Given the description of an element on the screen output the (x, y) to click on. 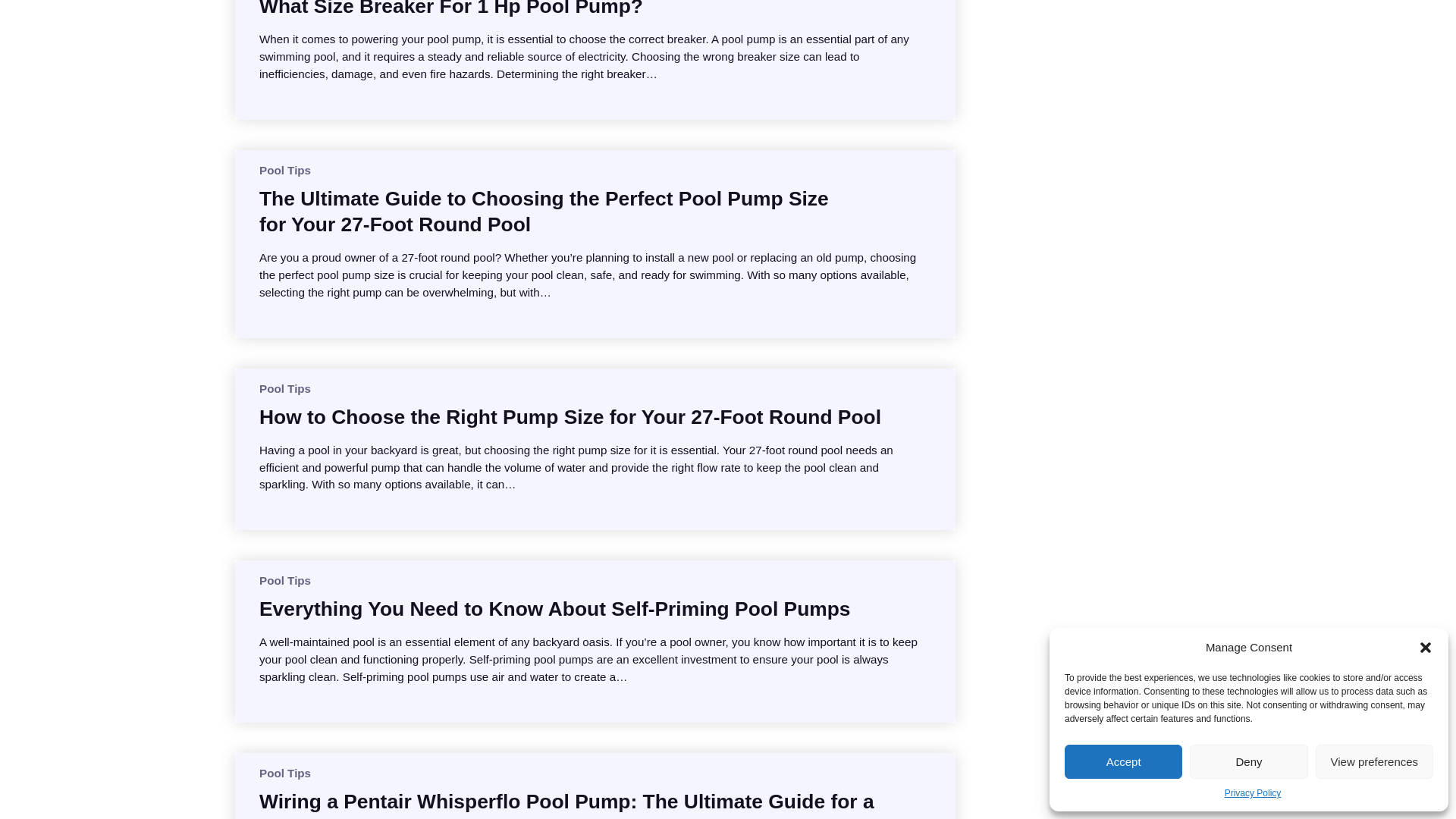
Pool Tips (285, 169)
Pool Tips (285, 580)
Pool Tips (285, 388)
What Size Breaker For 1 Hp Pool Pump? (451, 9)
Pool Tips (285, 772)
Everything You Need to Know About Self-Priming Pool Pumps (554, 608)
